Given the description of an element on the screen output the (x, y) to click on. 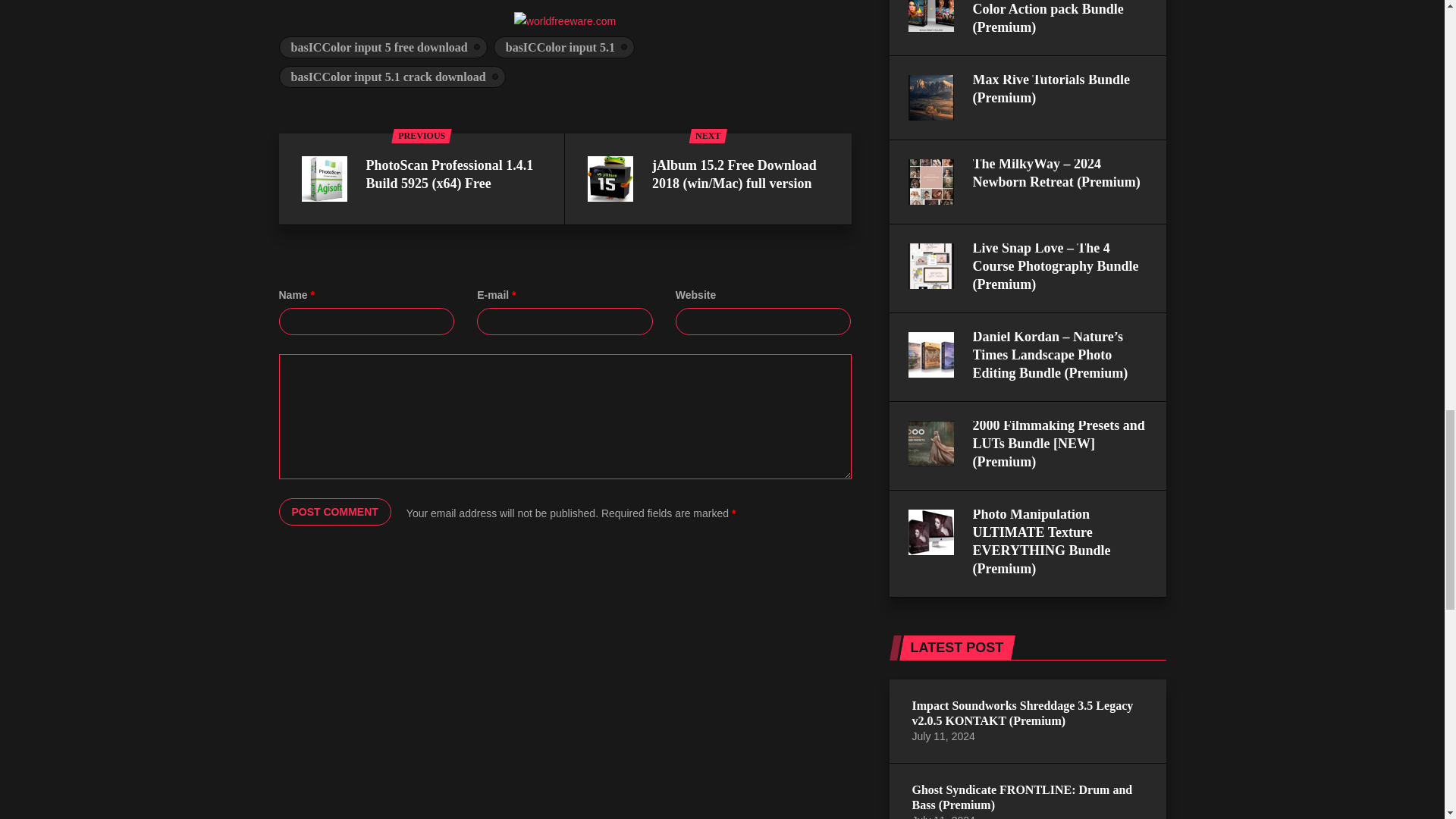
basICColor input 5.1 crack download (392, 76)
basICColor input 5.1 (563, 47)
basICColor input 5 free download (383, 47)
Post comment (335, 511)
